Given the description of an element on the screen output the (x, y) to click on. 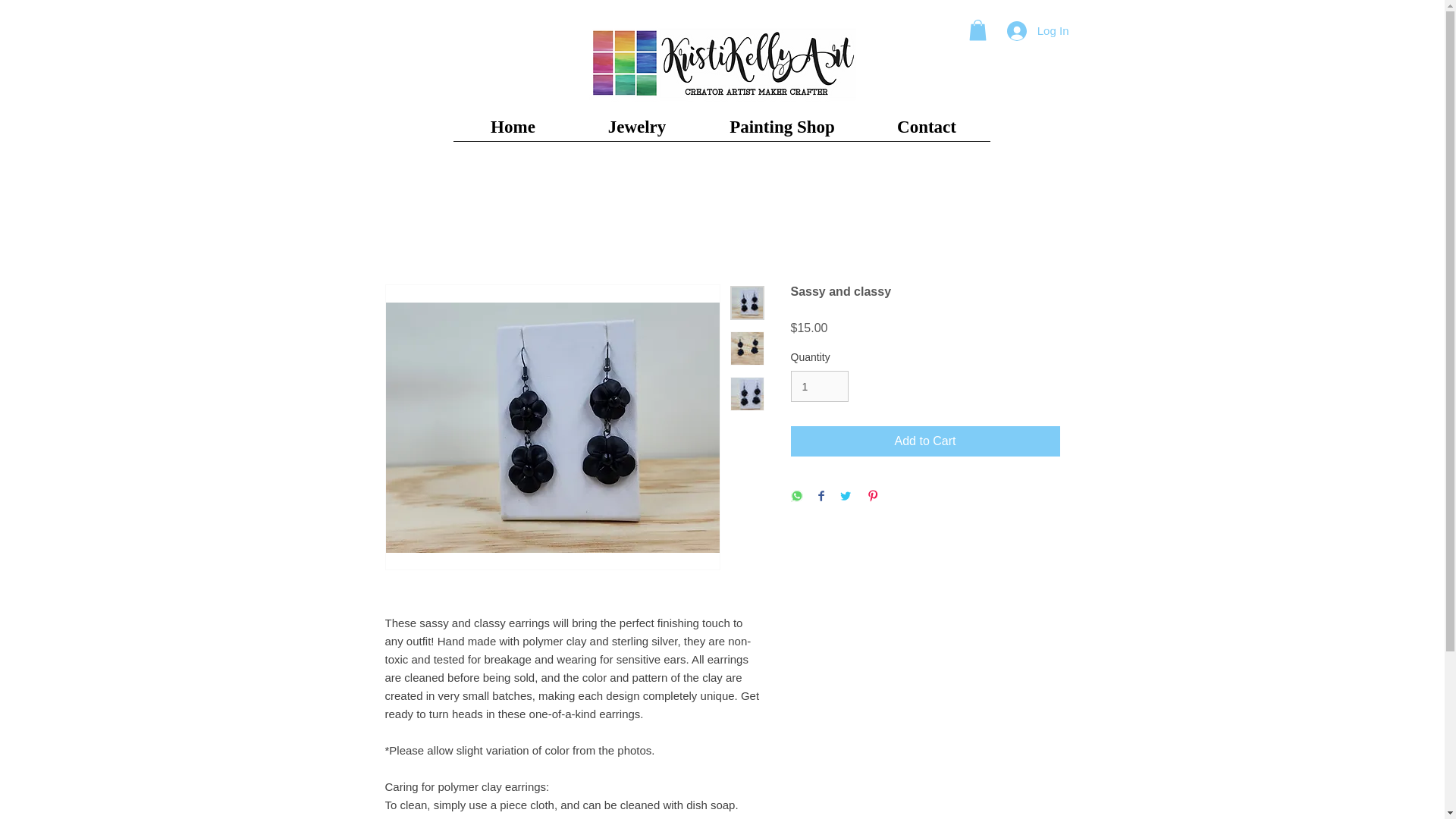
Painting Shop (781, 131)
Log In (1037, 30)
Add to Cart (924, 440)
1 (818, 386)
Jewelry (637, 131)
Contact (926, 131)
Home (512, 131)
